Given the description of an element on the screen output the (x, y) to click on. 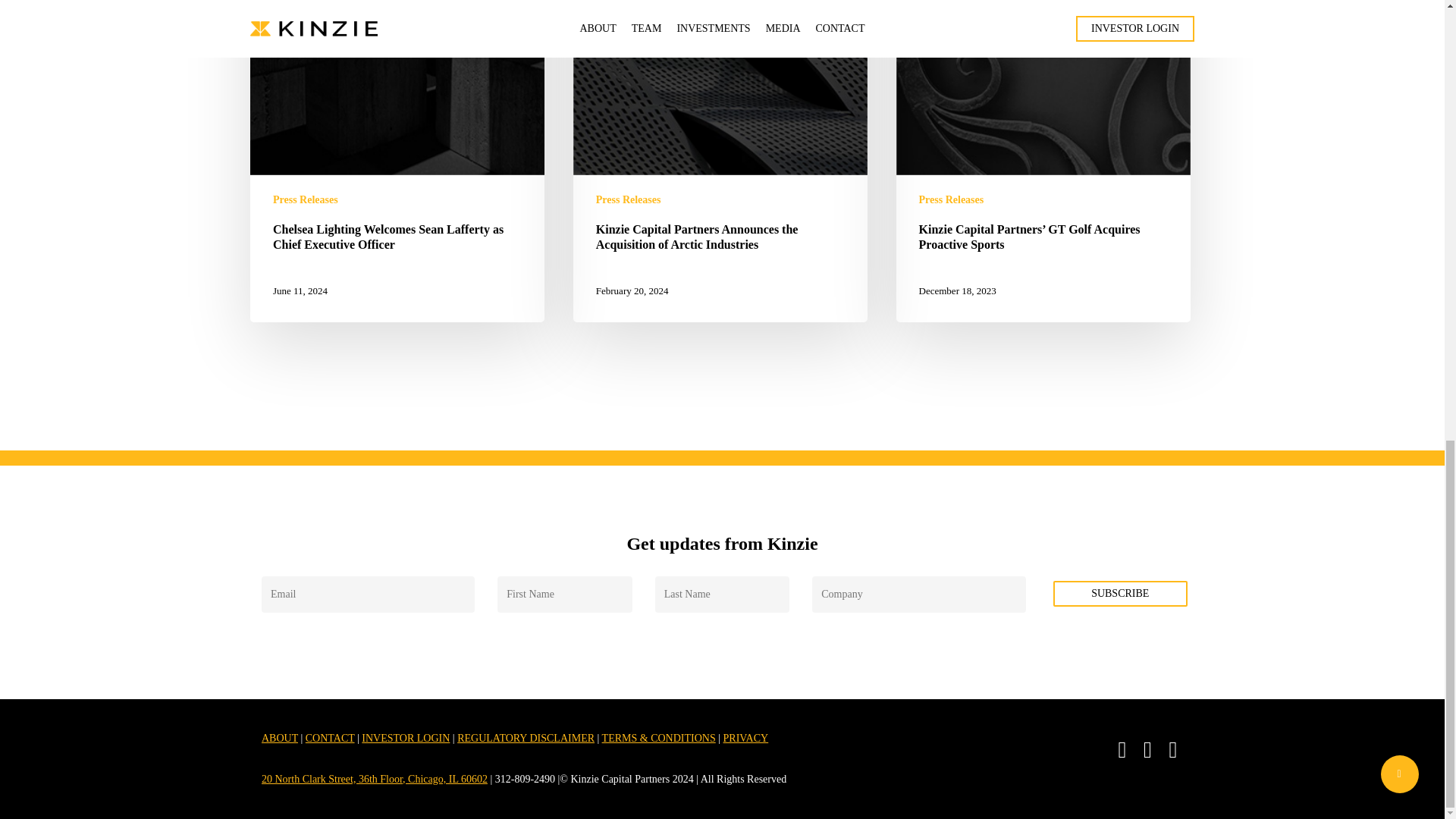
SUBSCRIBE (1120, 593)
Press Releases (951, 199)
Press Releases (305, 199)
Press Releases (628, 199)
